Given the description of an element on the screen output the (x, y) to click on. 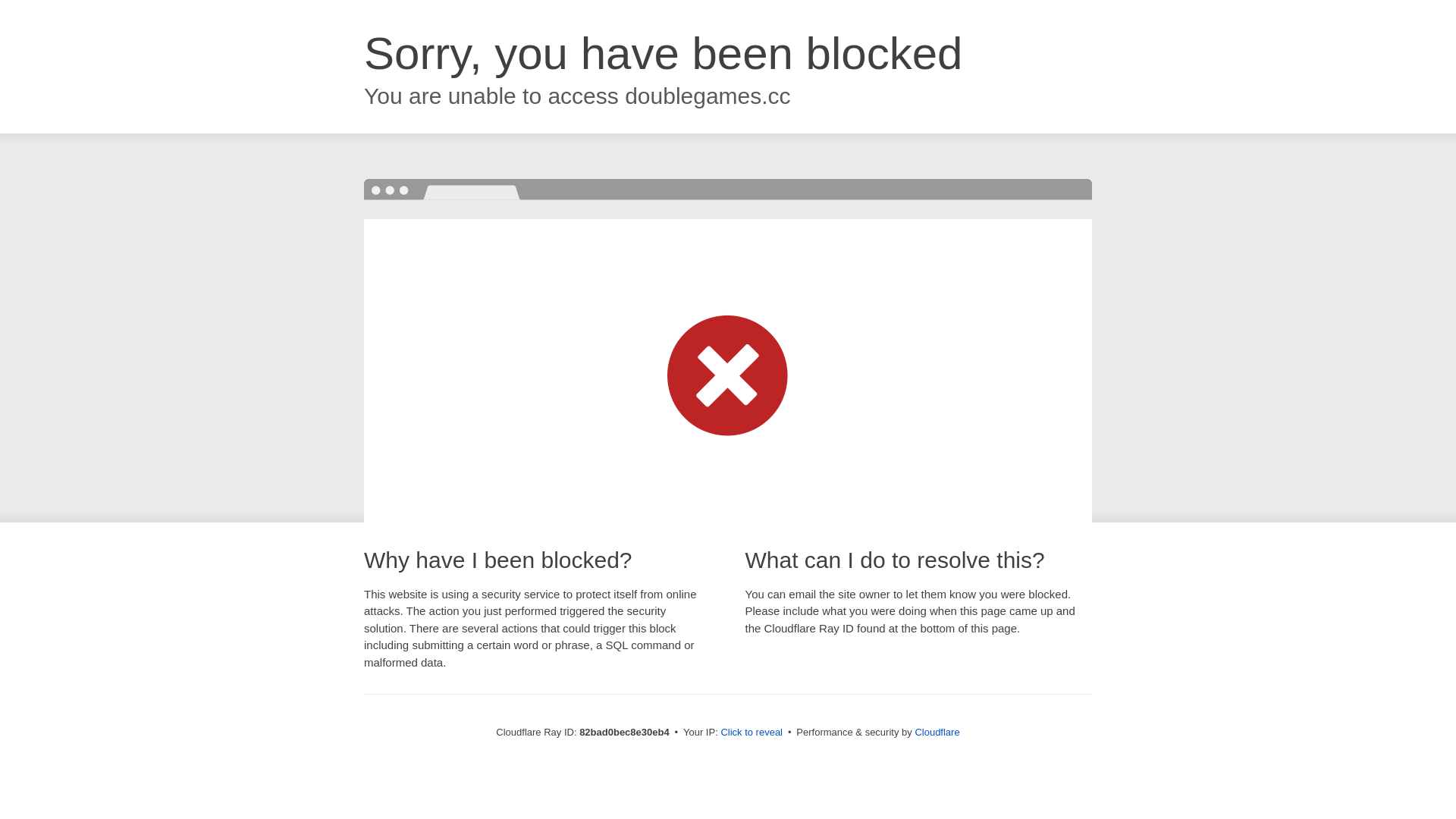
Click to reveal Element type: text (751, 732)
Cloudflare Element type: text (936, 731)
